Given the description of an element on the screen output the (x, y) to click on. 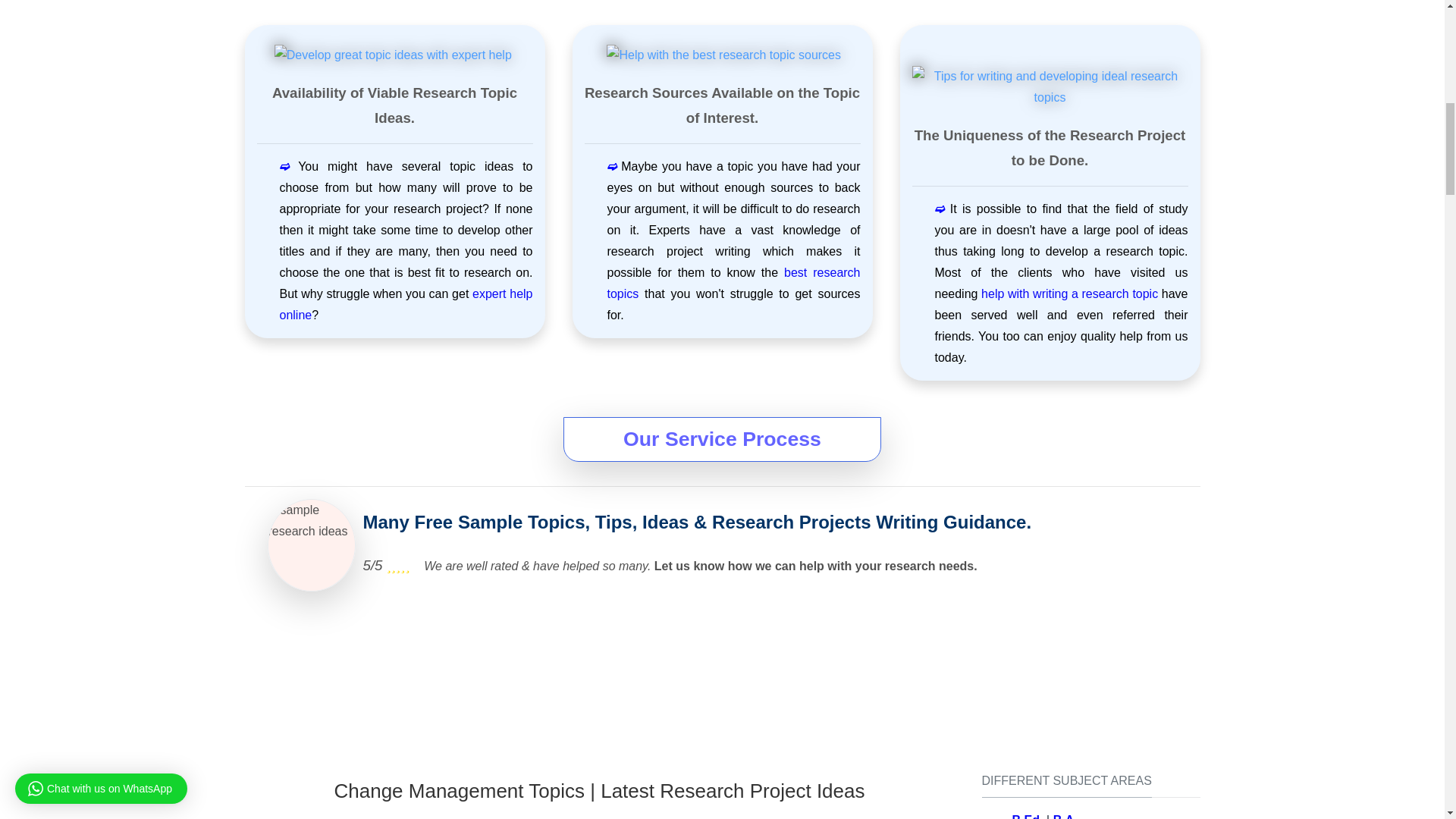
Our Service Process (721, 438)
best research topics (733, 283)
expert help online (405, 304)
B.Ed (1025, 816)
help with writing a research topic (1069, 293)
B.A (1063, 816)
